Given the description of an element on the screen output the (x, y) to click on. 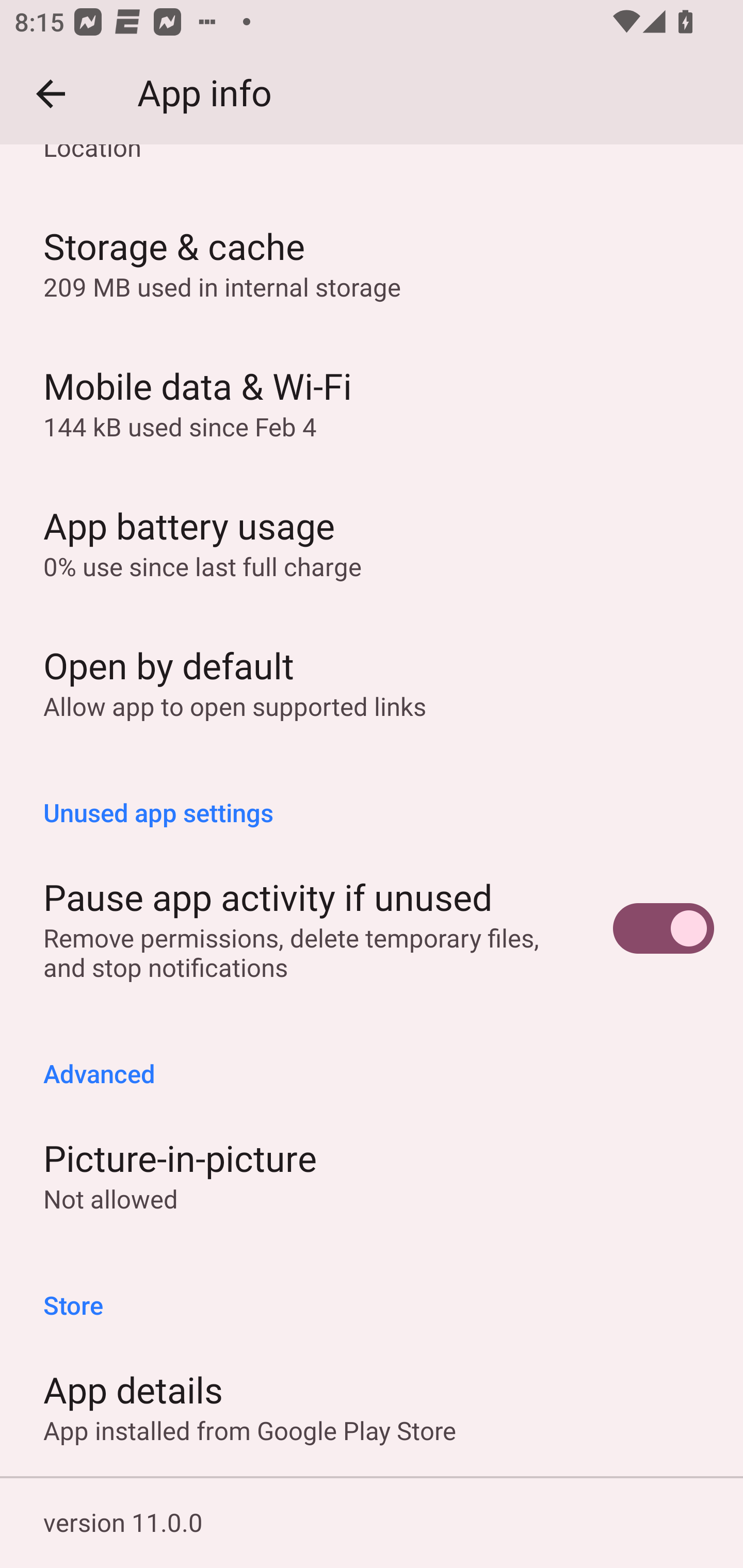
Navigate up (50, 93)
Storage & cache 209 MB used in internal storage (371, 262)
Mobile data & Wi‑Fi 144 kB used since Feb 4 (371, 401)
App battery usage 0% use since last full charge (371, 541)
Open by default Allow app to open supported links (371, 681)
Picture-in-picture Not allowed (371, 1174)
App details App installed from Google Play Store (371, 1405)
